Given the description of an element on the screen output the (x, y) to click on. 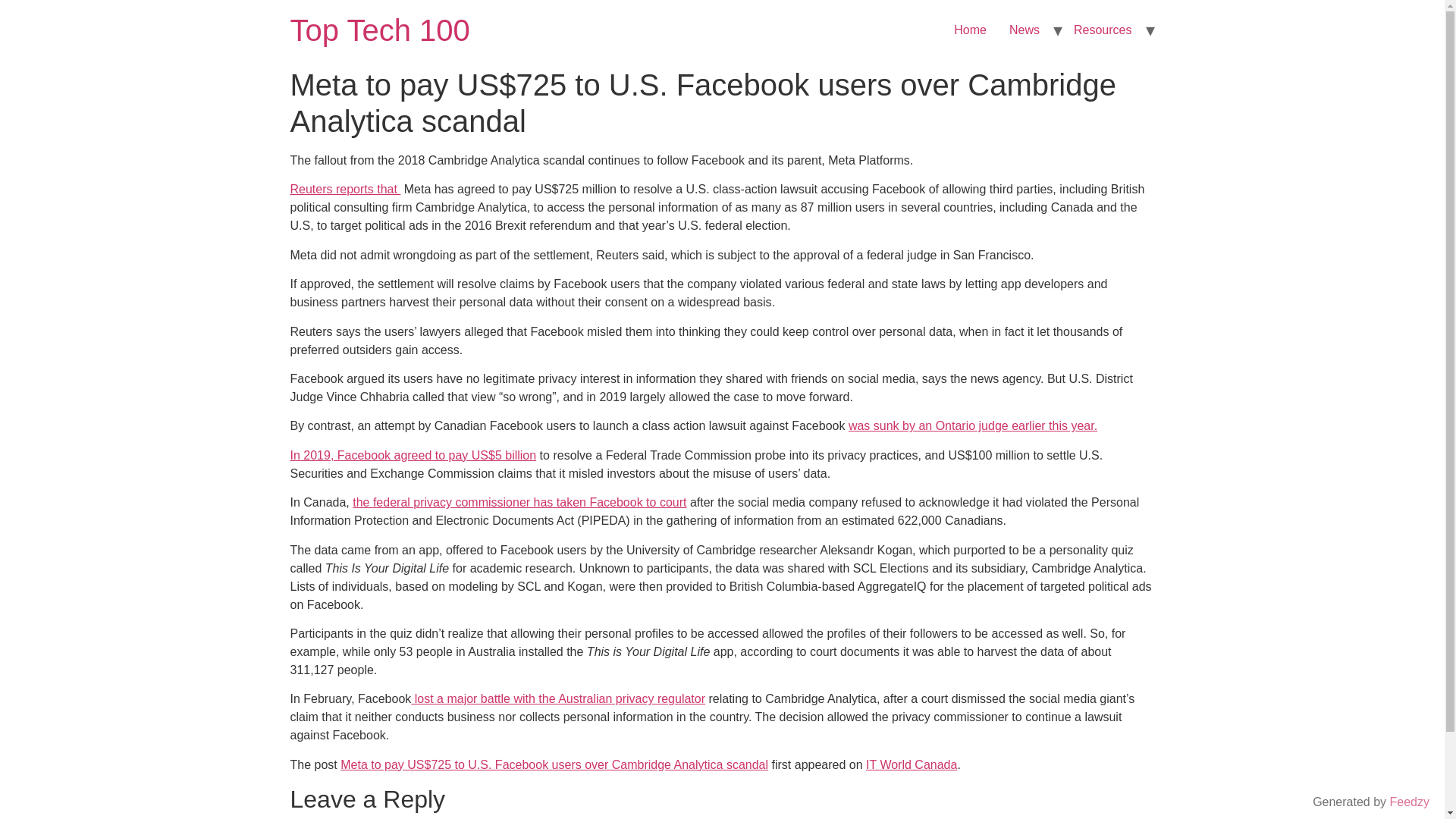
the federal privacy commissioner has taken Facebook to court (518, 502)
Home (378, 29)
lost a major battle with the Australian privacy regulator (557, 698)
Feedzy (1409, 801)
Reuters reports that  (344, 188)
Resources (1102, 30)
IT World Canada (911, 764)
Home (969, 30)
News (1024, 30)
Top Tech 100 (378, 29)
was sunk by an Ontario judge earlier this year. (972, 425)
